Given the description of an element on the screen output the (x, y) to click on. 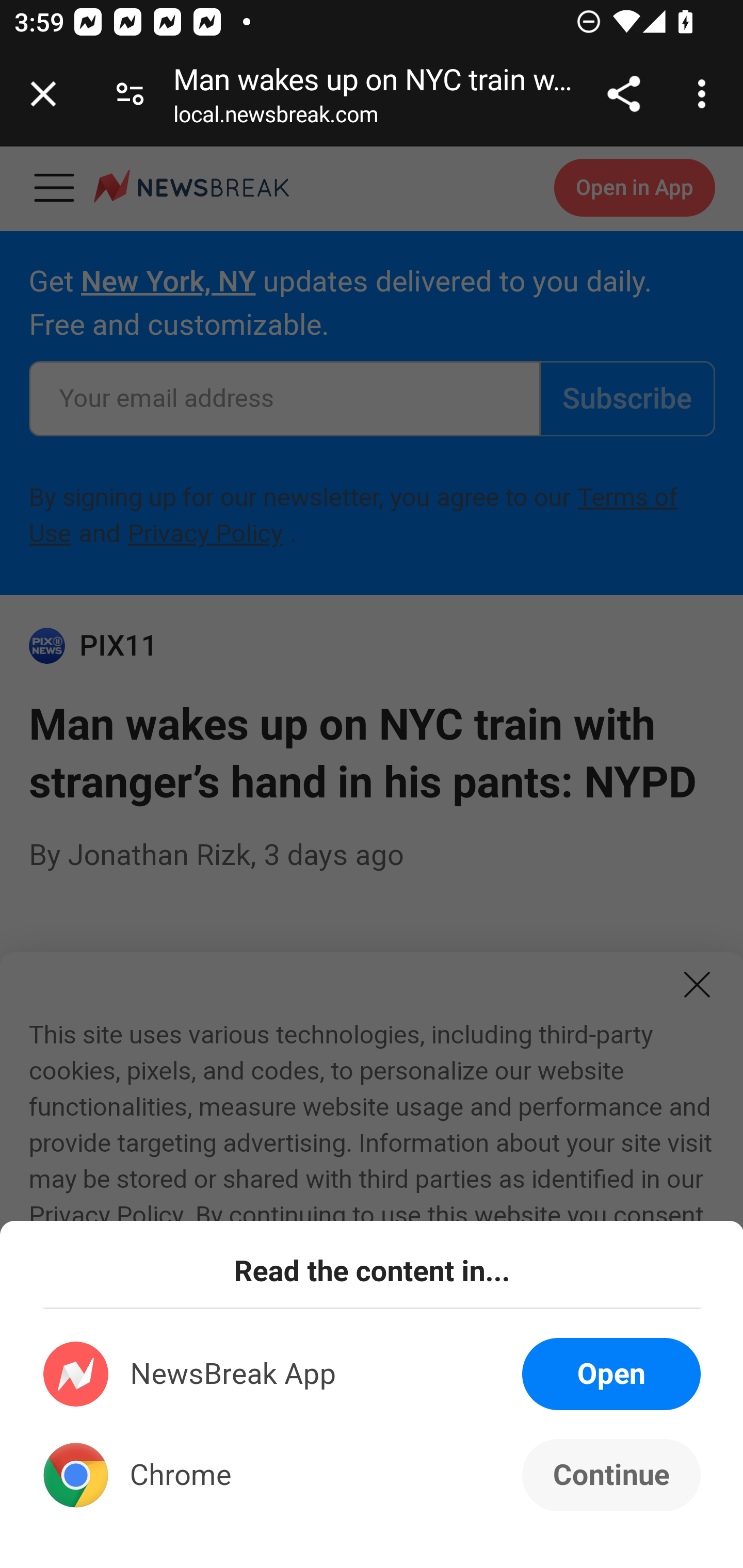
Close tab (43, 93)
Share link address (623, 93)
Customize and control Google Chrome (705, 93)
Connection is secure (129, 93)
local.newsbreak.com (275, 117)
Download App NewsBreak App NewsBreak App Open (372, 1374)
Open (611, 1374)
Accept Cookies (231, 1458)
Continue (611, 1475)
